Given the description of an element on the screen output the (x, y) to click on. 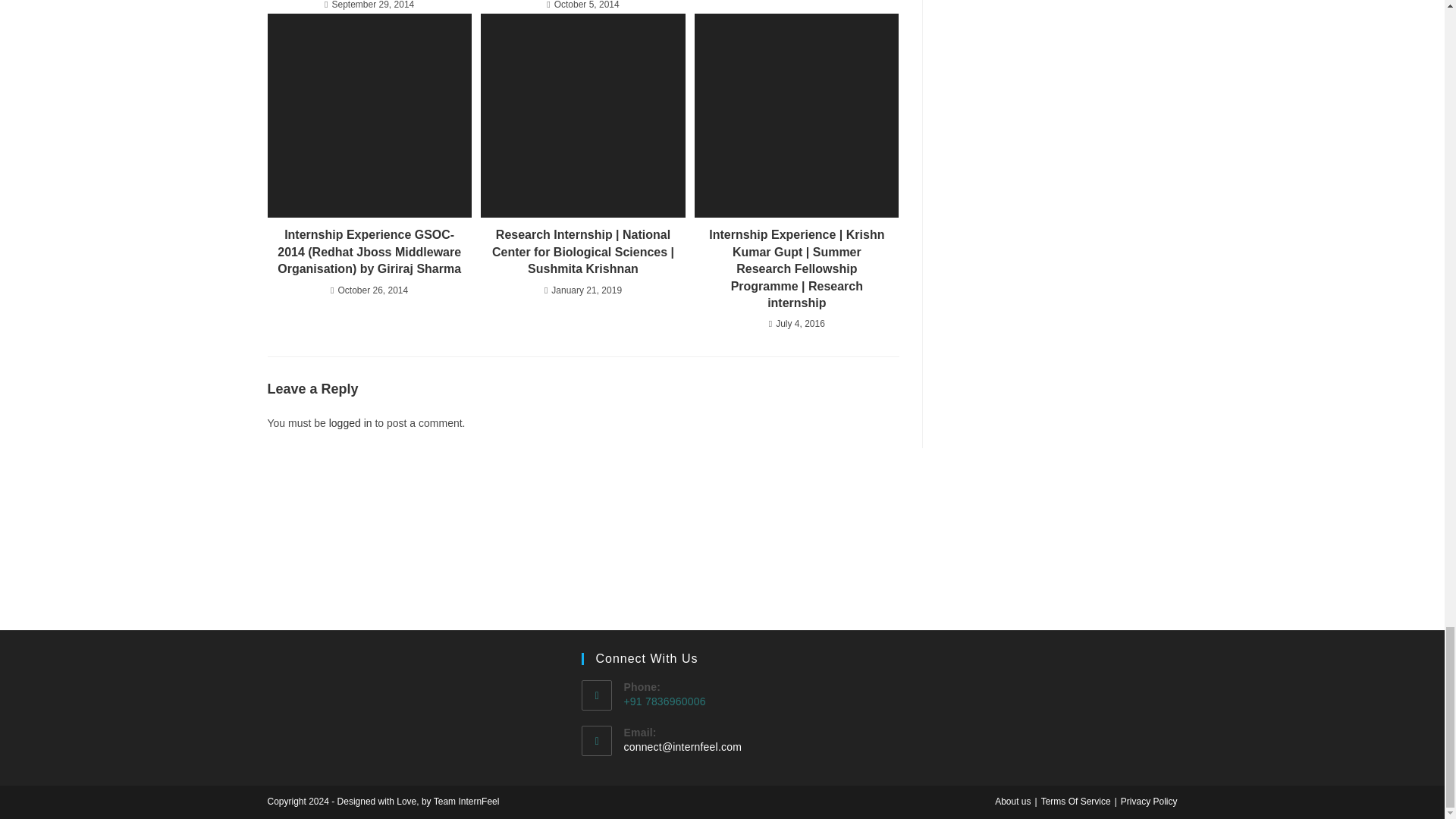
Disclaimer (1075, 801)
About us (1012, 801)
Privacy Policy (1149, 801)
